Given the description of an element on the screen output the (x, y) to click on. 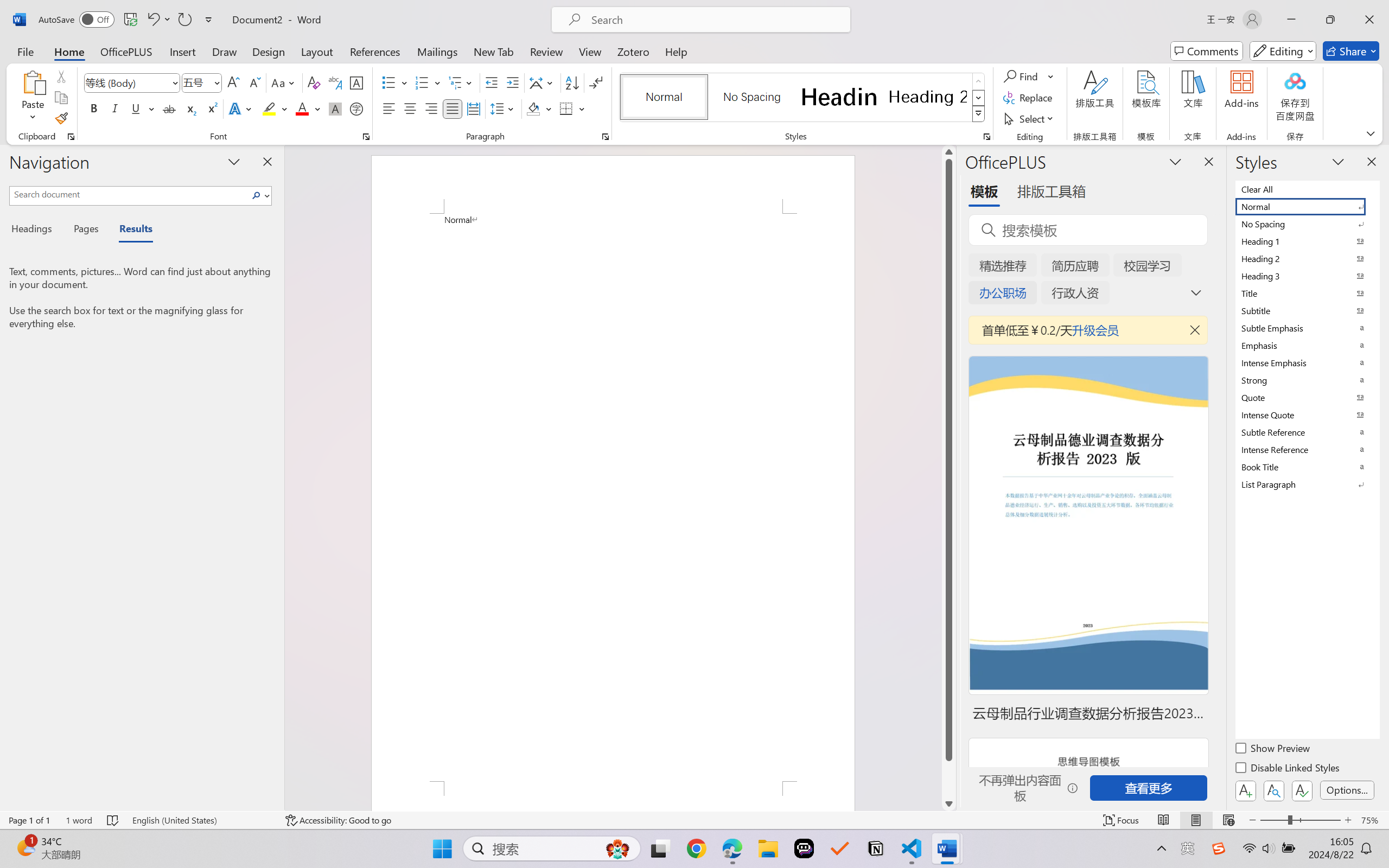
Undo Apply Quick Style (152, 19)
Row up (978, 81)
Bold (94, 108)
Layout (316, 51)
Clear Formatting (313, 82)
Find (1022, 75)
Paragraph... (605, 136)
Class: NetUIScrollBar (948, 477)
Align Left (388, 108)
Sort... (571, 82)
Class: NetUIButton (1301, 790)
Quick Access Toolbar (127, 19)
Emphasis (1306, 345)
Accessibility Checker Accessibility: Good to go (338, 819)
